Given the description of an element on the screen output the (x, y) to click on. 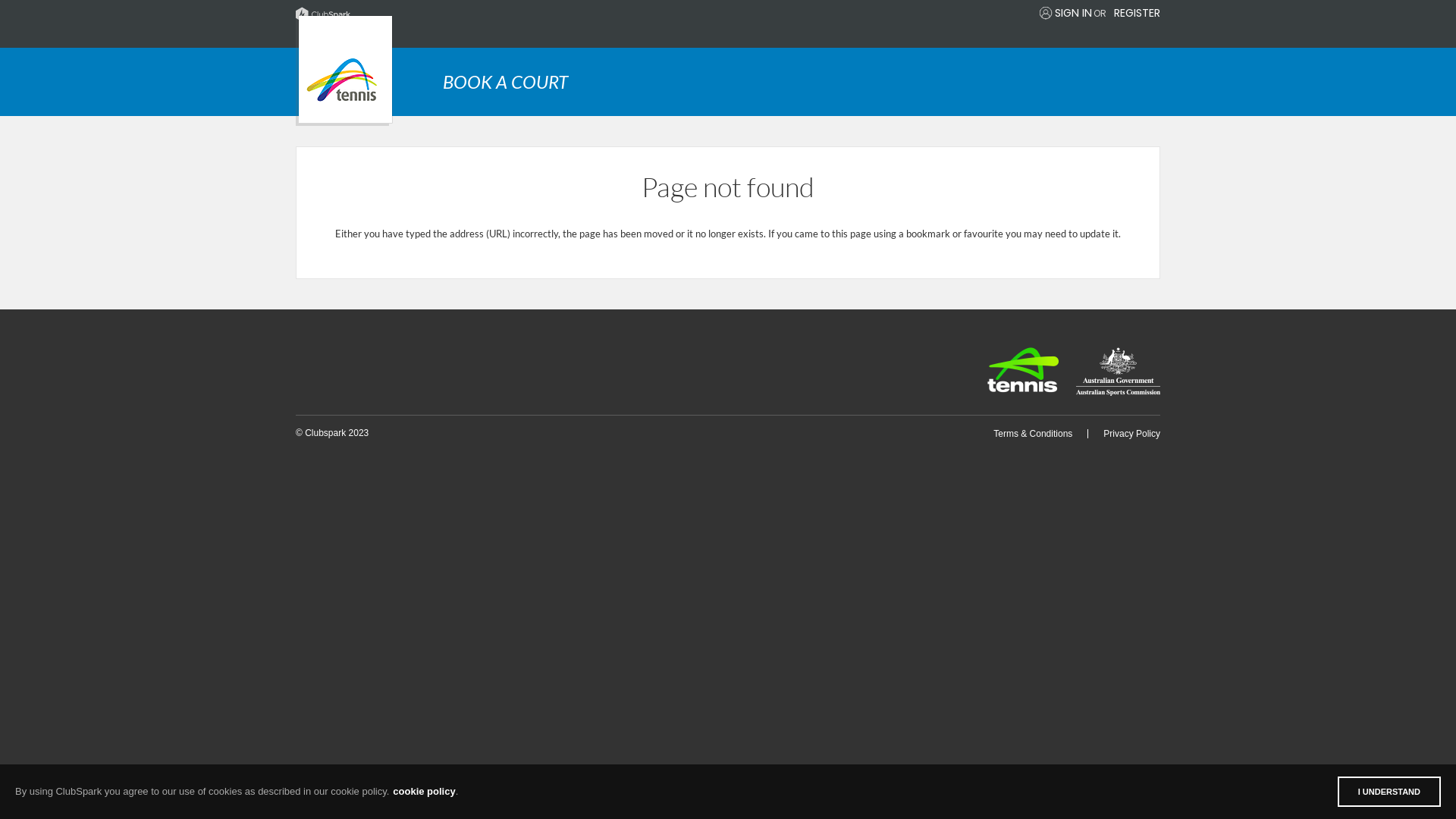
cookie policy Element type: text (423, 791)
I UNDERSTAND Element type: text (1388, 791)
Terms & Conditions Element type: text (1032, 433)
Privacy Policy Element type: text (1131, 433)
REGISTER Element type: text (1136, 12)
Start Playing Element type: hover (343, 70)
Tennis Australia Element type: hover (1022, 370)
BOOK A COURT Element type: text (801, 81)
SIGN IN Element type: text (1073, 12)
ClubSpark Element type: text (511, 13)
